Given the description of an element on the screen output the (x, y) to click on. 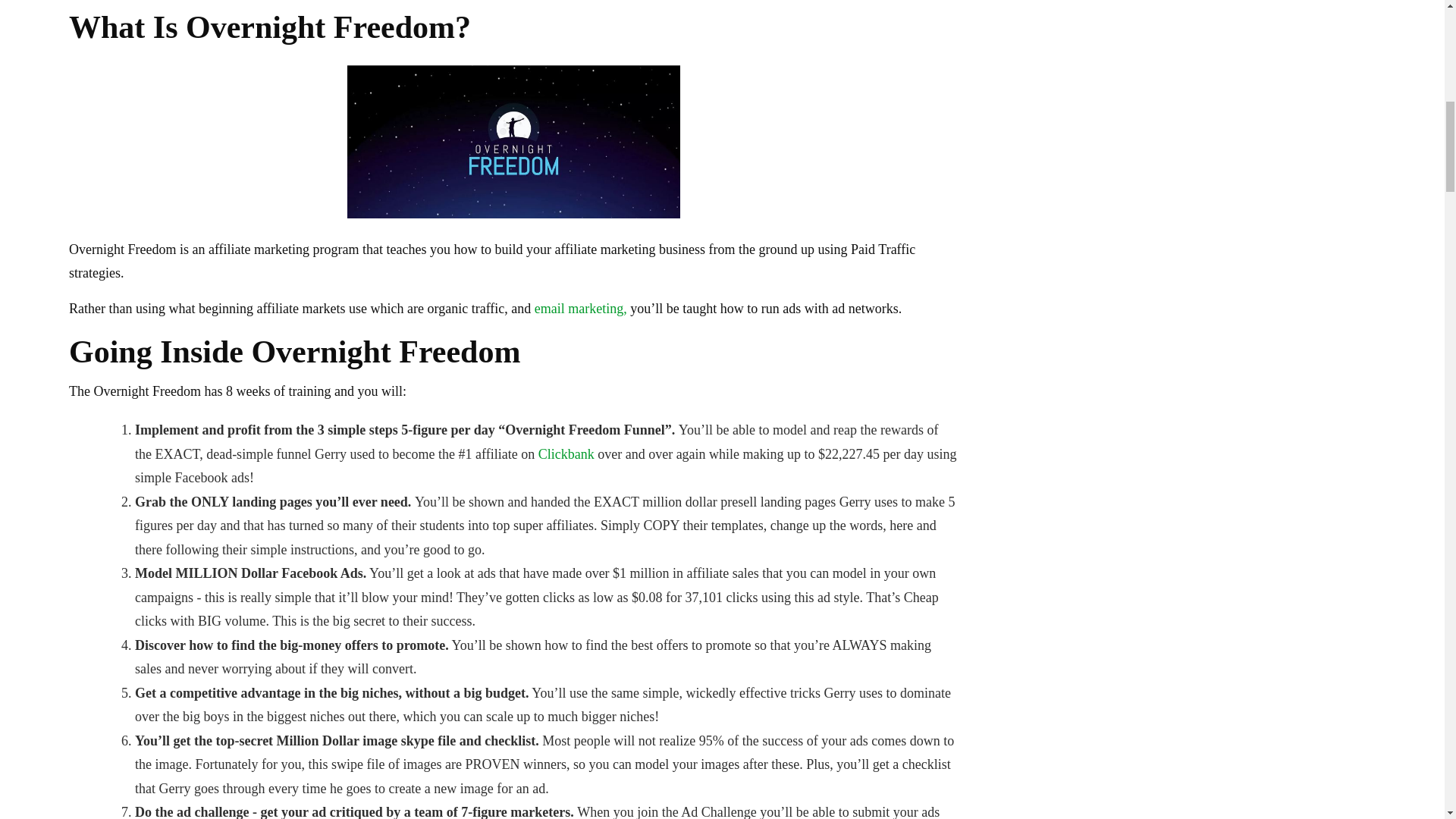
email marketing, (580, 308)
is overrnight freedom a scam (513, 141)
Clickbank (564, 453)
